Given the description of an element on the screen output the (x, y) to click on. 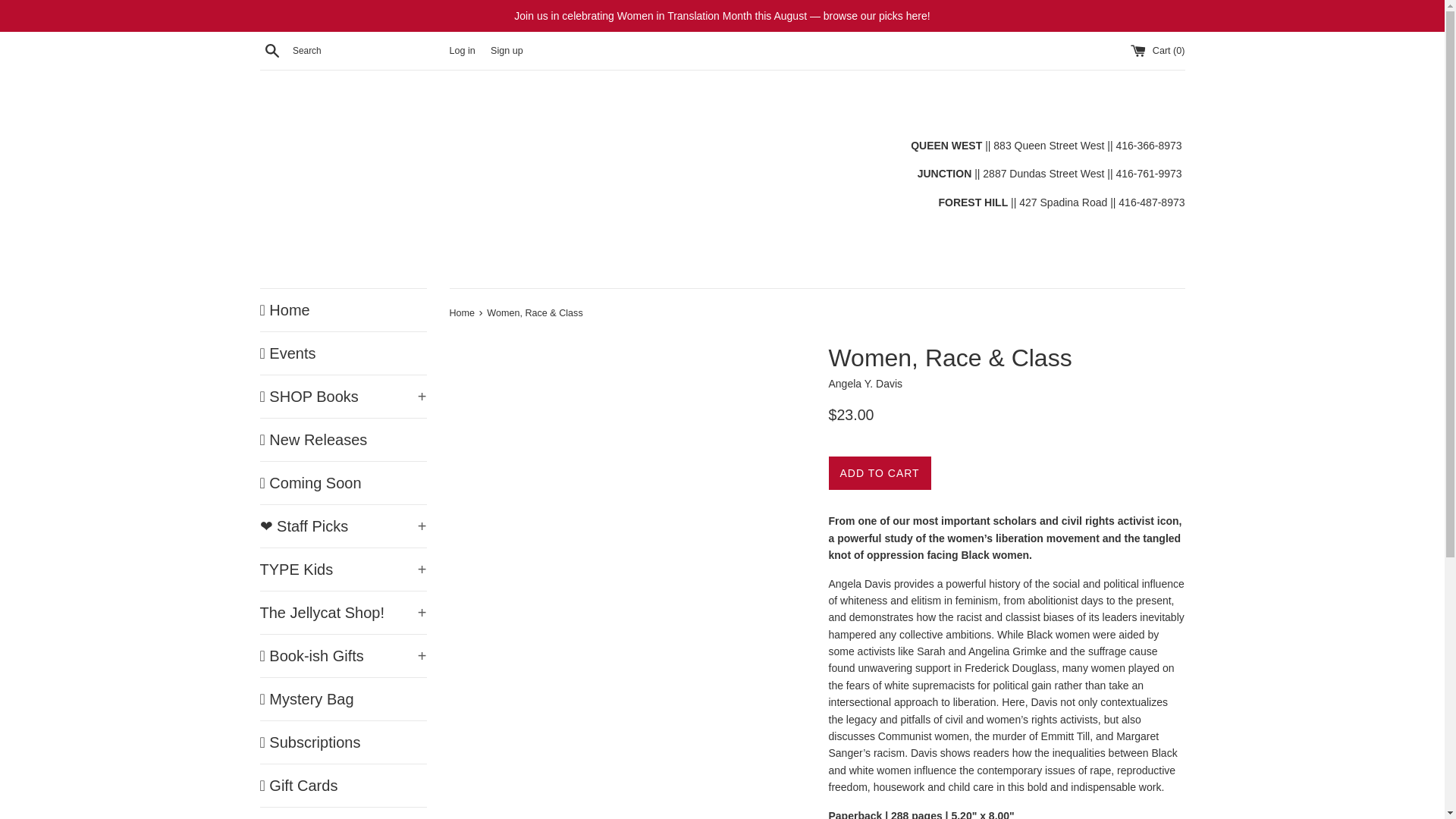
Sign up (506, 50)
Log in (461, 50)
Search (271, 49)
Back to the frontpage (462, 312)
